Given the description of an element on the screen output the (x, y) to click on. 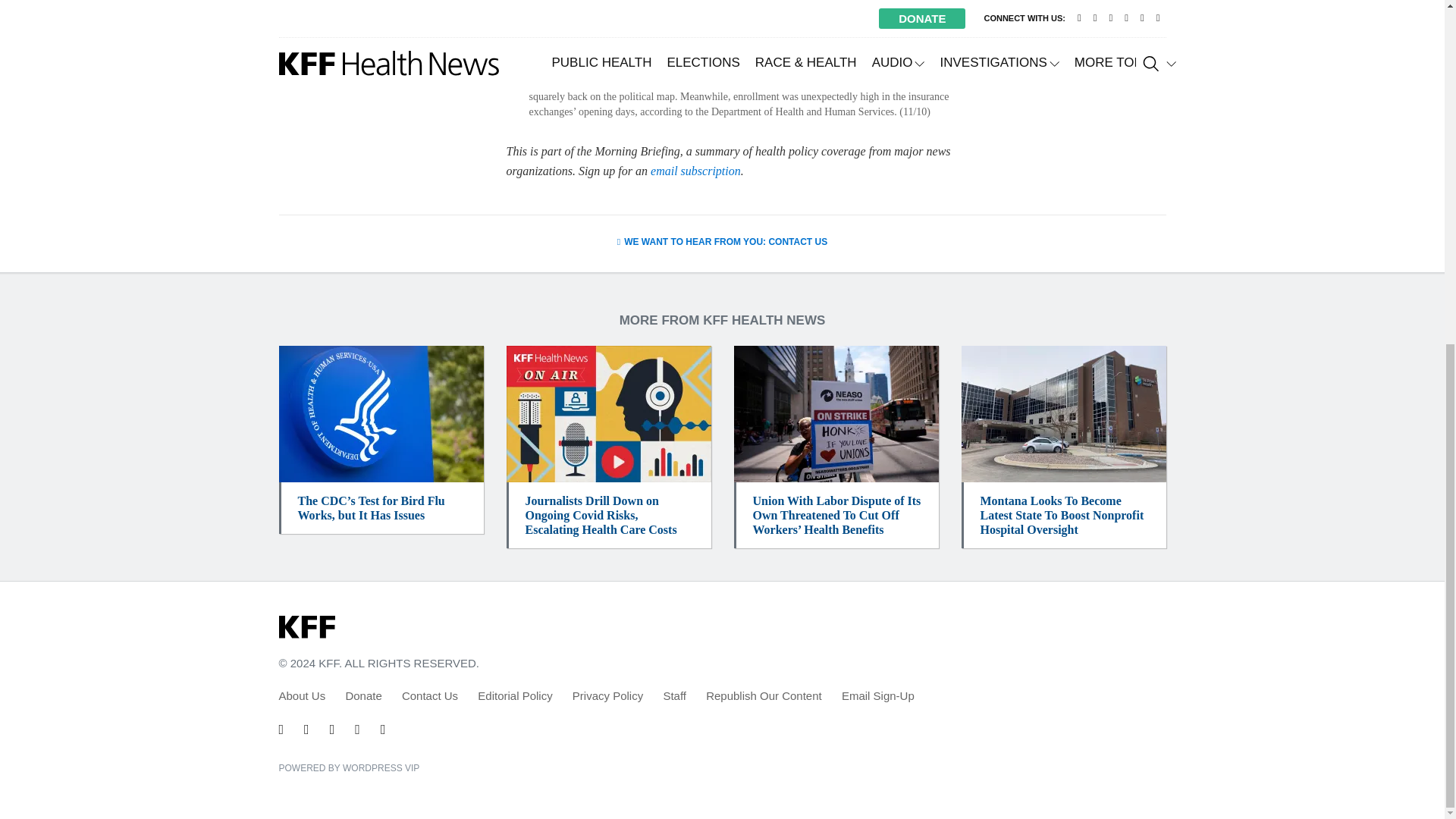
KFF (306, 627)
